Given the description of an element on the screen output the (x, y) to click on. 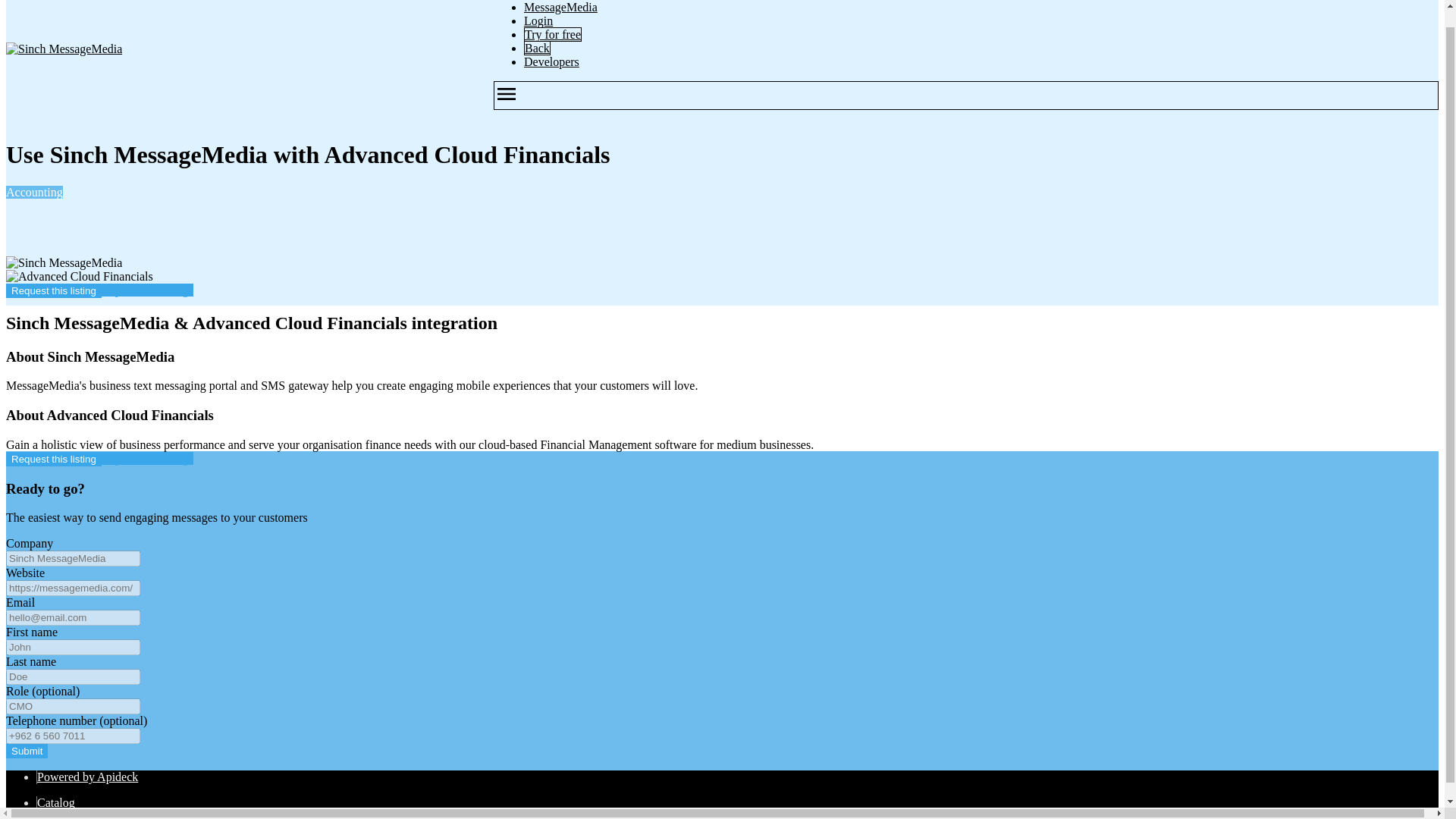
Sinch MessageMedia (63, 49)
Login (538, 20)
Powered by Apideck (87, 776)
Request this listing (53, 459)
Sinch MessageMedia (63, 263)
Back (537, 47)
Catalog (56, 802)
Explore all listings (147, 458)
Try for free (552, 34)
Submit (26, 750)
Developers (551, 61)
Request this listing (53, 290)
MessageMedia (560, 6)
Advanced Cloud Financials (78, 276)
Explore all listings (147, 289)
